Given the description of an element on the screen output the (x, y) to click on. 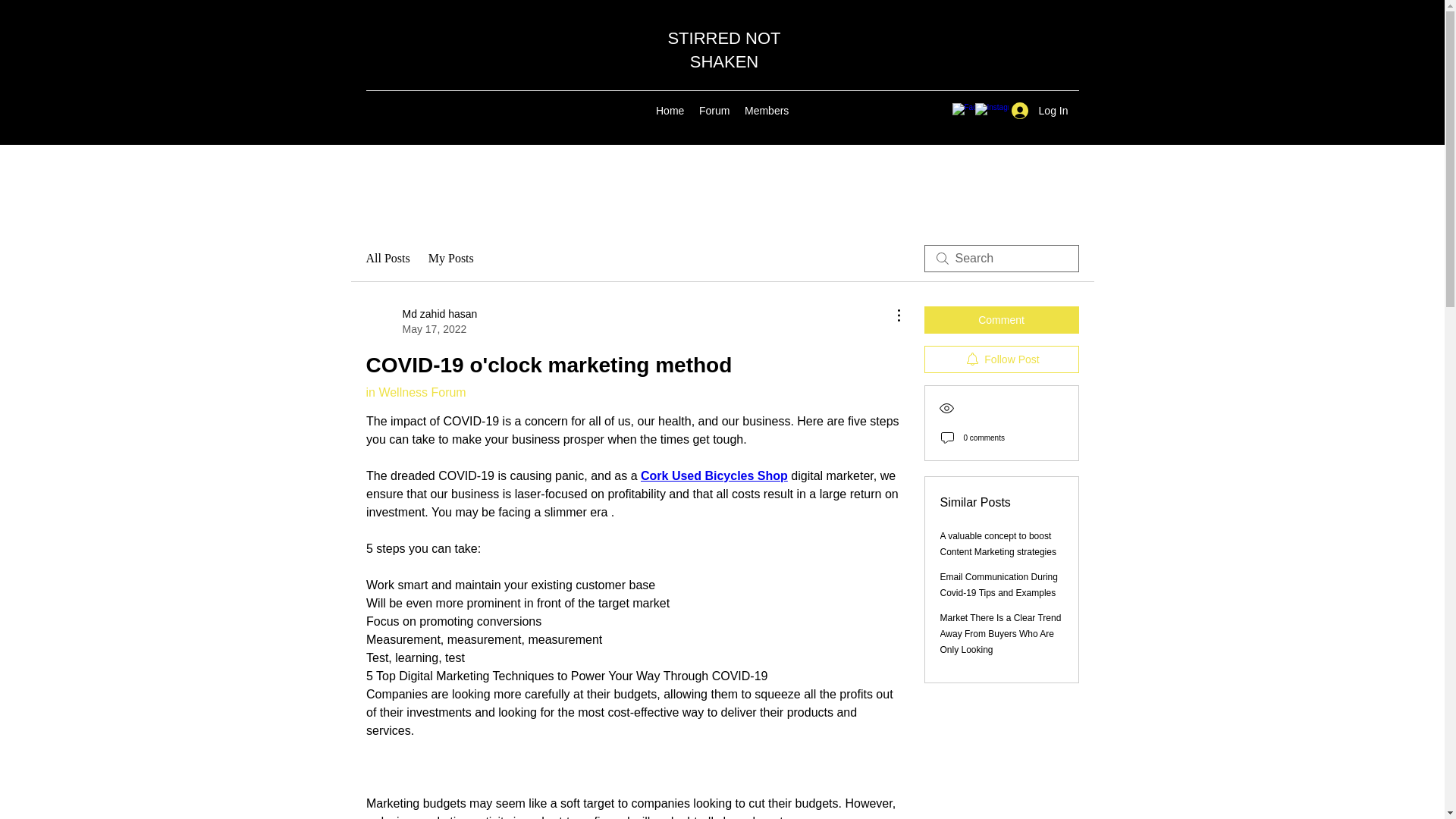
Cork Used Bicycles Shop (713, 475)
Log In (1039, 111)
Email Communication During Covid-19 Tips and Examples (999, 584)
A valuable concept to boost Content Marketing strategies (998, 543)
in Wellness Forum (415, 391)
All Posts (387, 258)
Comment (1000, 319)
Home (669, 110)
Members (766, 110)
My Posts (451, 258)
Forum (713, 110)
STIRRED NOT SHAKEN (723, 49)
Follow Post (1000, 359)
